Given the description of an element on the screen output the (x, y) to click on. 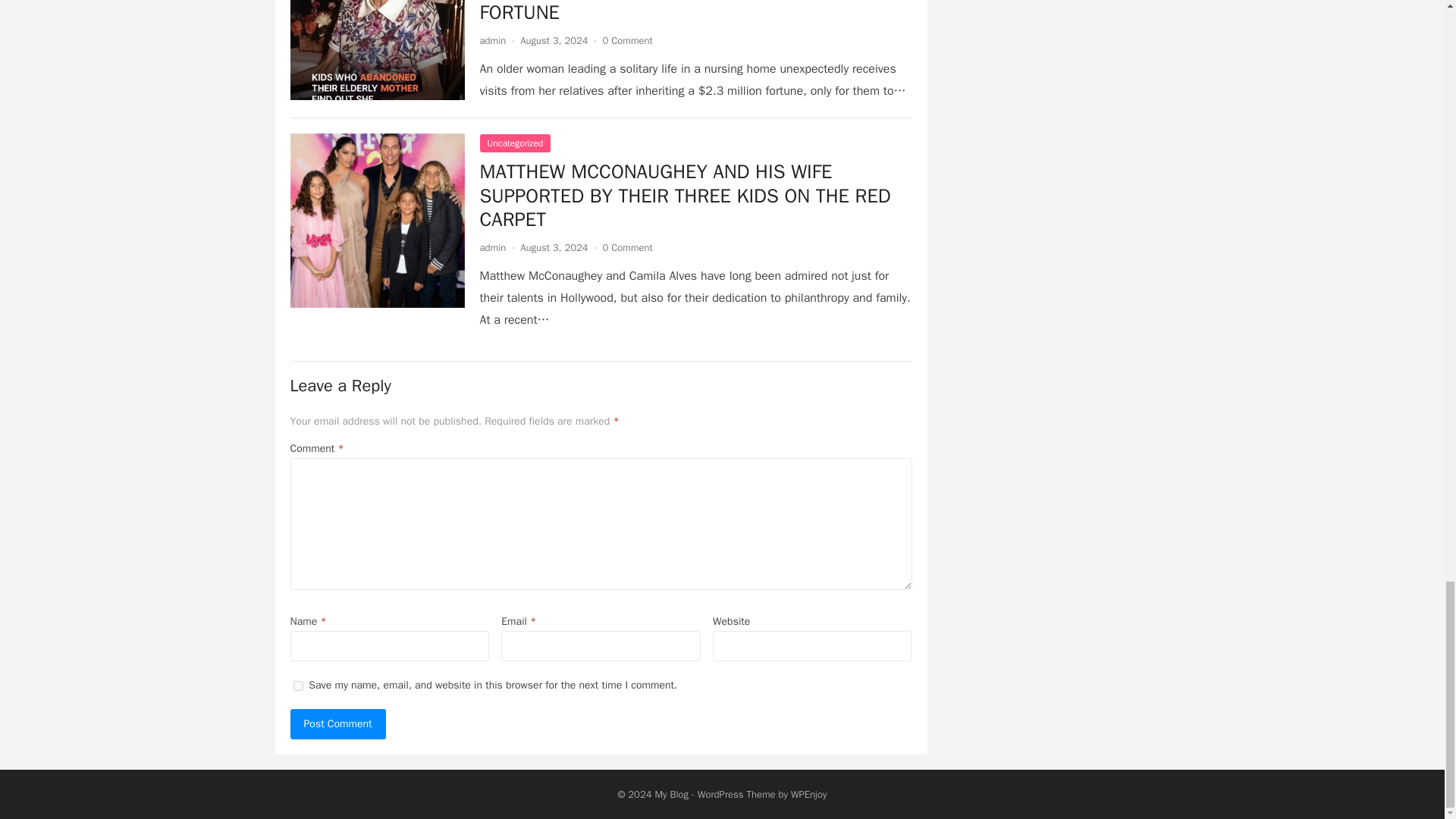
Posts by admin (492, 40)
0 Comment (627, 40)
Posts by admin (492, 246)
Post Comment (337, 724)
yes (297, 685)
Uncategorized (514, 143)
admin (492, 40)
